Given the description of an element on the screen output the (x, y) to click on. 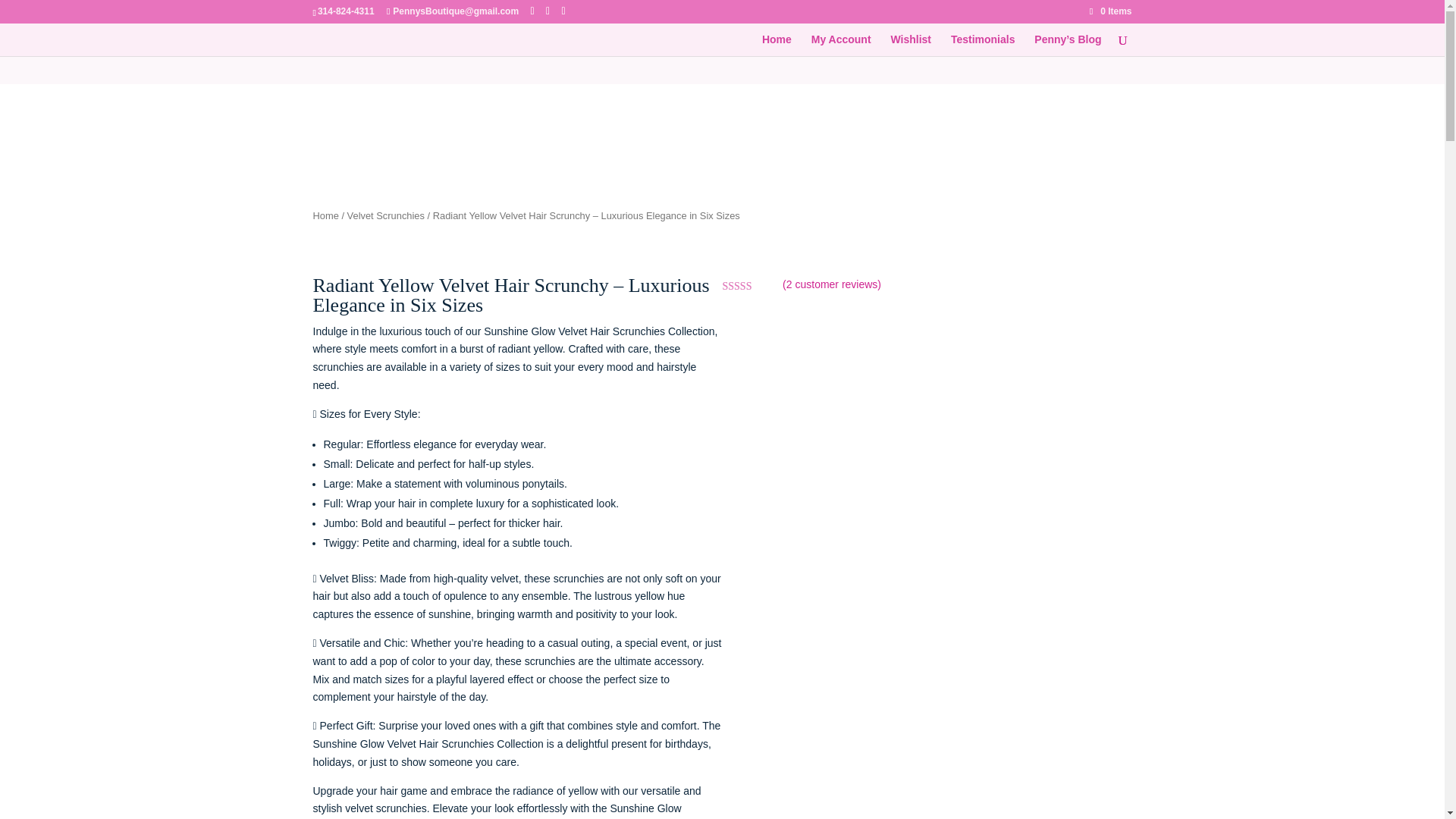
My Account (840, 45)
Wishlist (910, 45)
0 Items (1110, 10)
Home (325, 215)
Testimonials (982, 45)
Home (776, 45)
Velvet Scrunchies (386, 215)
